Given the description of an element on the screen output the (x, y) to click on. 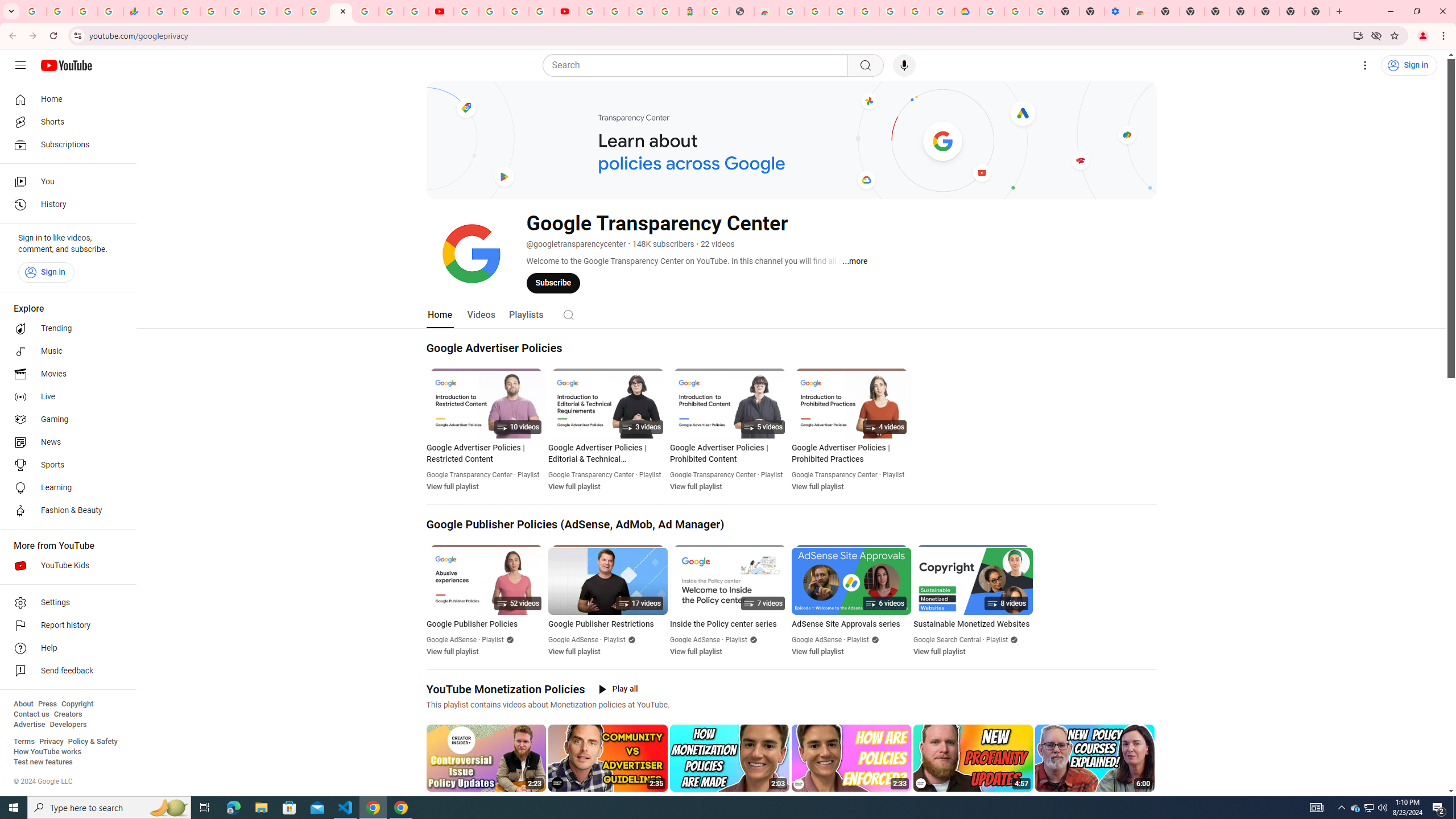
Google Advertiser Policies (494, 347)
Trending (64, 328)
Home (64, 99)
Shorts (64, 121)
View full playlist (938, 651)
Sign in - Google Accounts (841, 11)
Verified (1012, 639)
New Tab (1266, 11)
Copyright (77, 703)
